Given the description of an element on the screen output the (x, y) to click on. 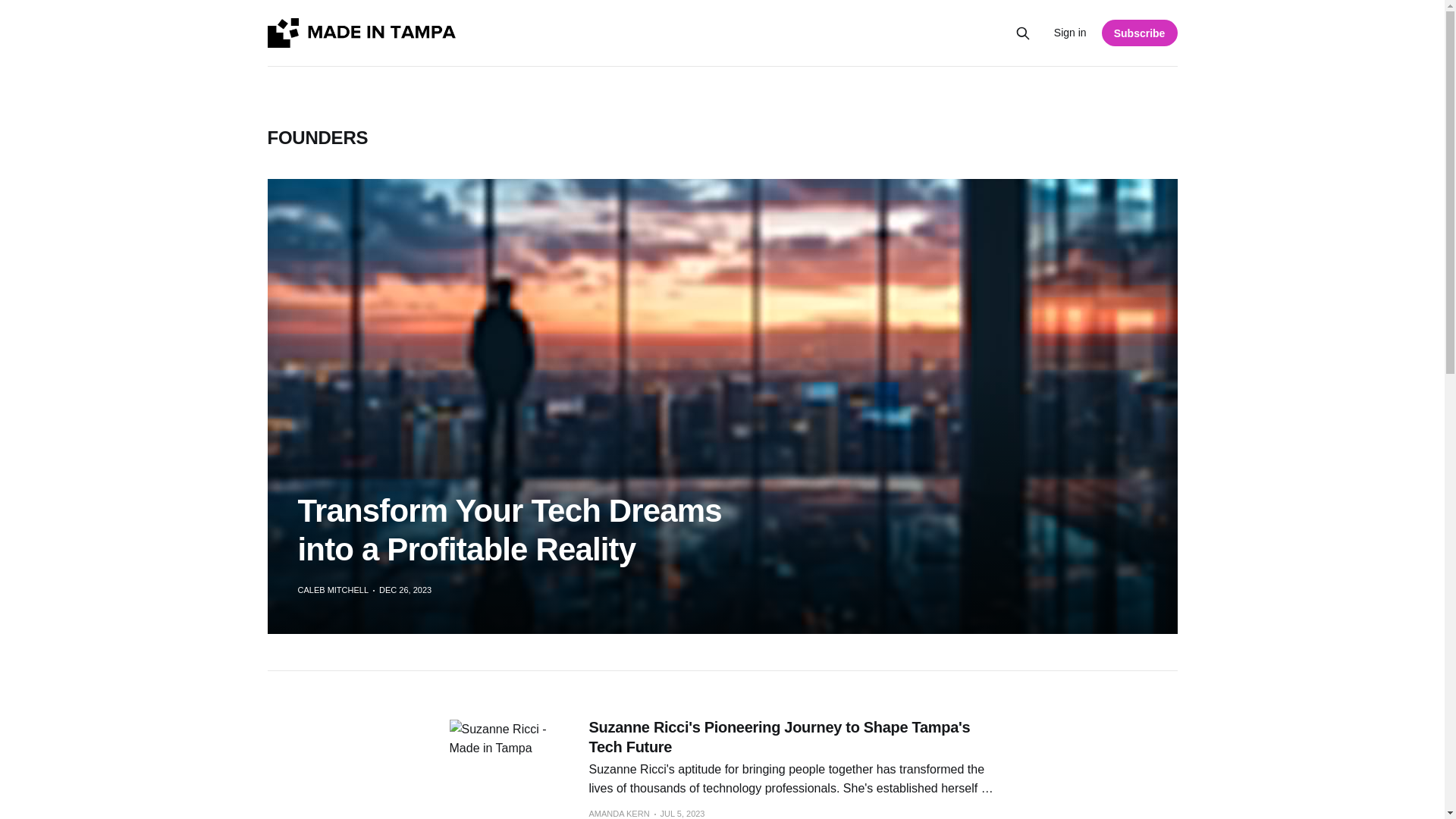
Subscribe (1139, 32)
Sign in (1070, 32)
